Given the description of an element on the screen output the (x, y) to click on. 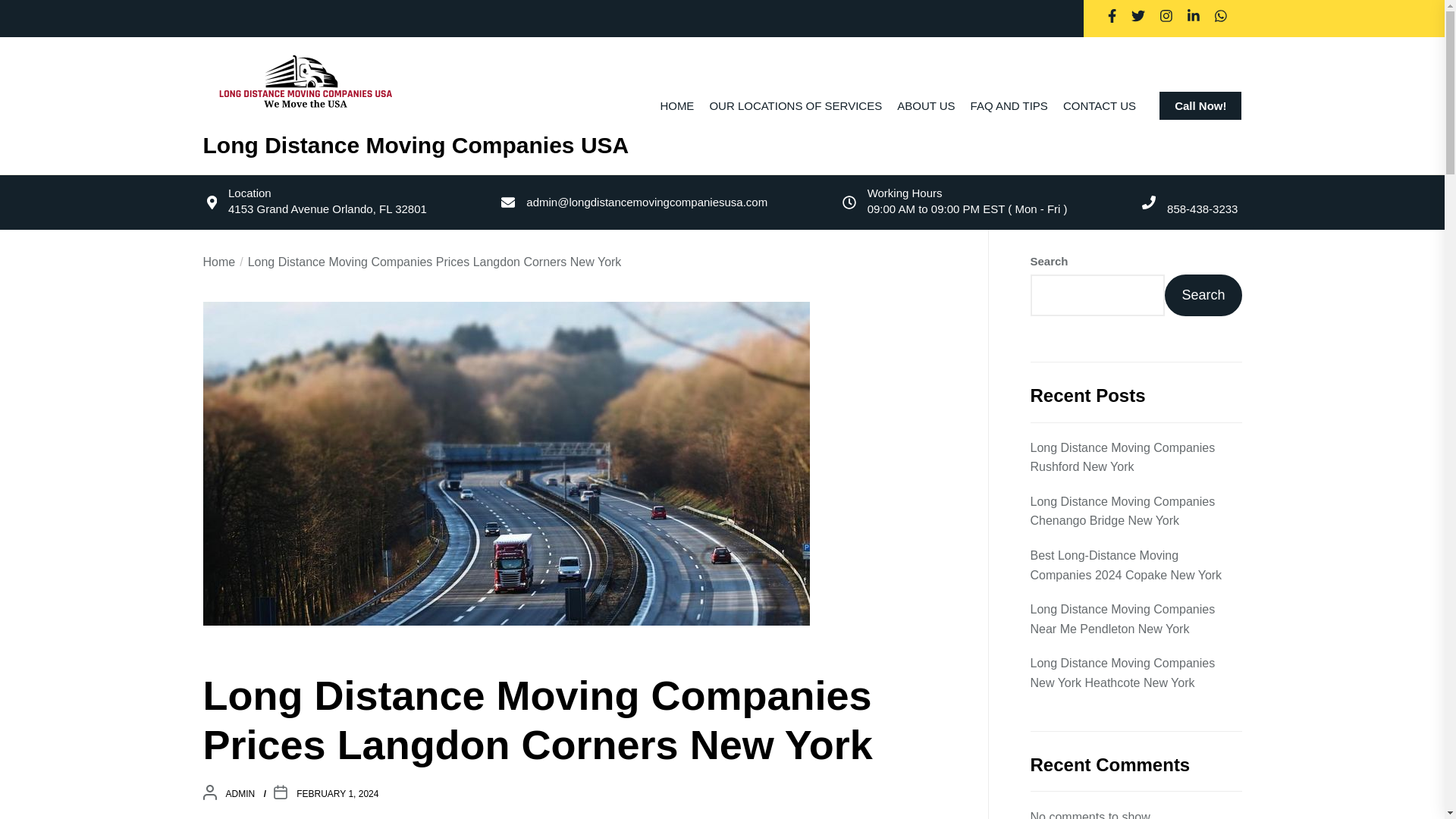
OUR LOCATIONS OF SERVICES (795, 105)
Long Distance Moving Companies Rushford New York (1135, 457)
ABOUT US (925, 105)
ADMIN (240, 793)
858-438-3233 (1202, 208)
Home (219, 261)
Search (1202, 295)
FAQ AND TIPS (1009, 105)
Best Long-Distance Moving Companies 2024 Copake New York (1135, 565)
Long Distance Moving Companies Near Me Pendleton New York (1135, 618)
